Given the description of an element on the screen output the (x, y) to click on. 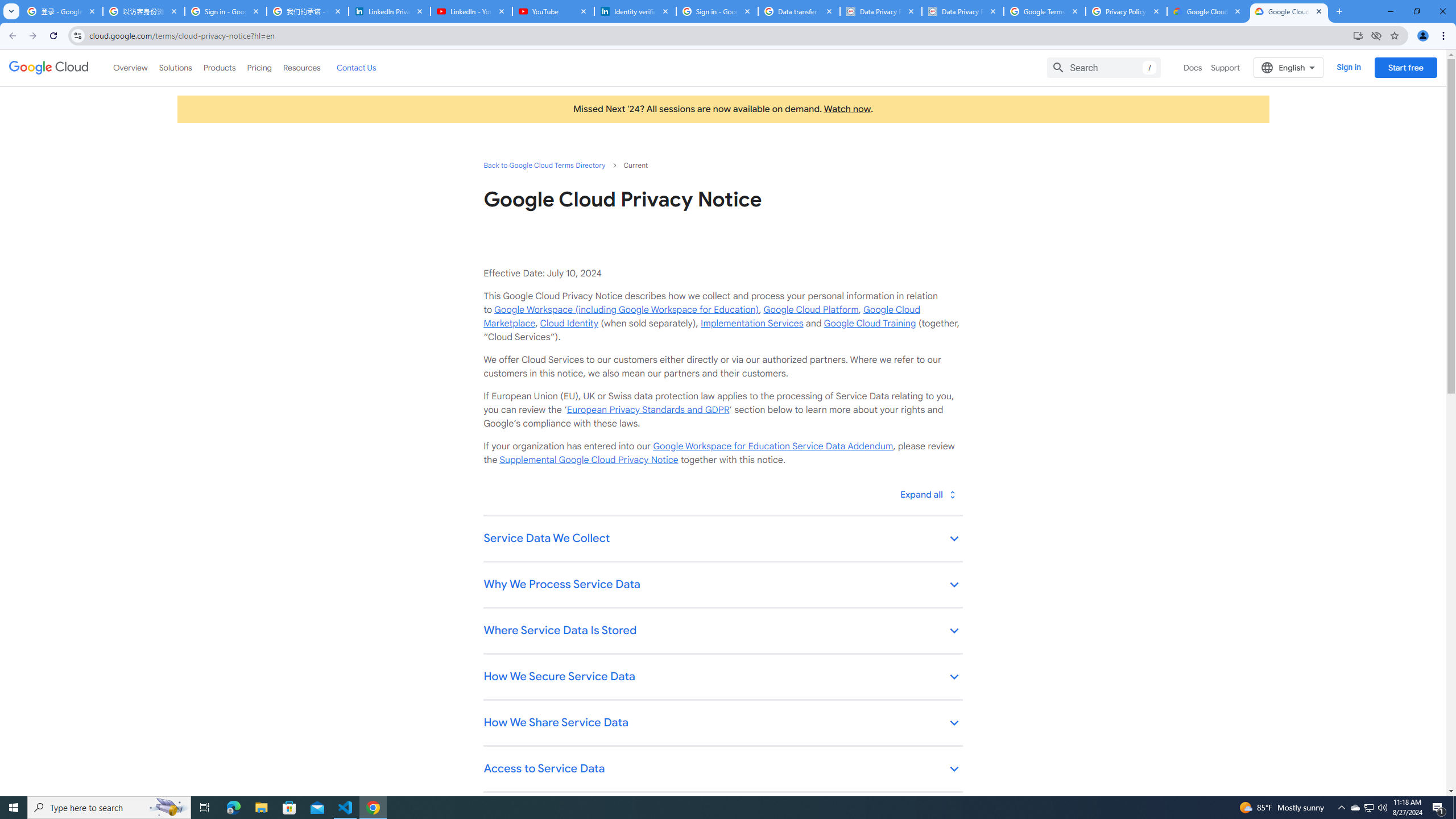
Resources (301, 67)
Google Workspace for Education Service Data Addendum (772, 446)
Implementation Services (751, 323)
Google Cloud (48, 67)
Start free (1405, 67)
Google Cloud Platform (810, 309)
Back to Google Cloud Terms Directory (544, 165)
Google Cloud Privacy Notice (1207, 11)
Contact Us (355, 67)
European Privacy Standards and GDPR (647, 410)
LinkedIn Privacy Policy (389, 11)
